Given the description of an element on the screen output the (x, y) to click on. 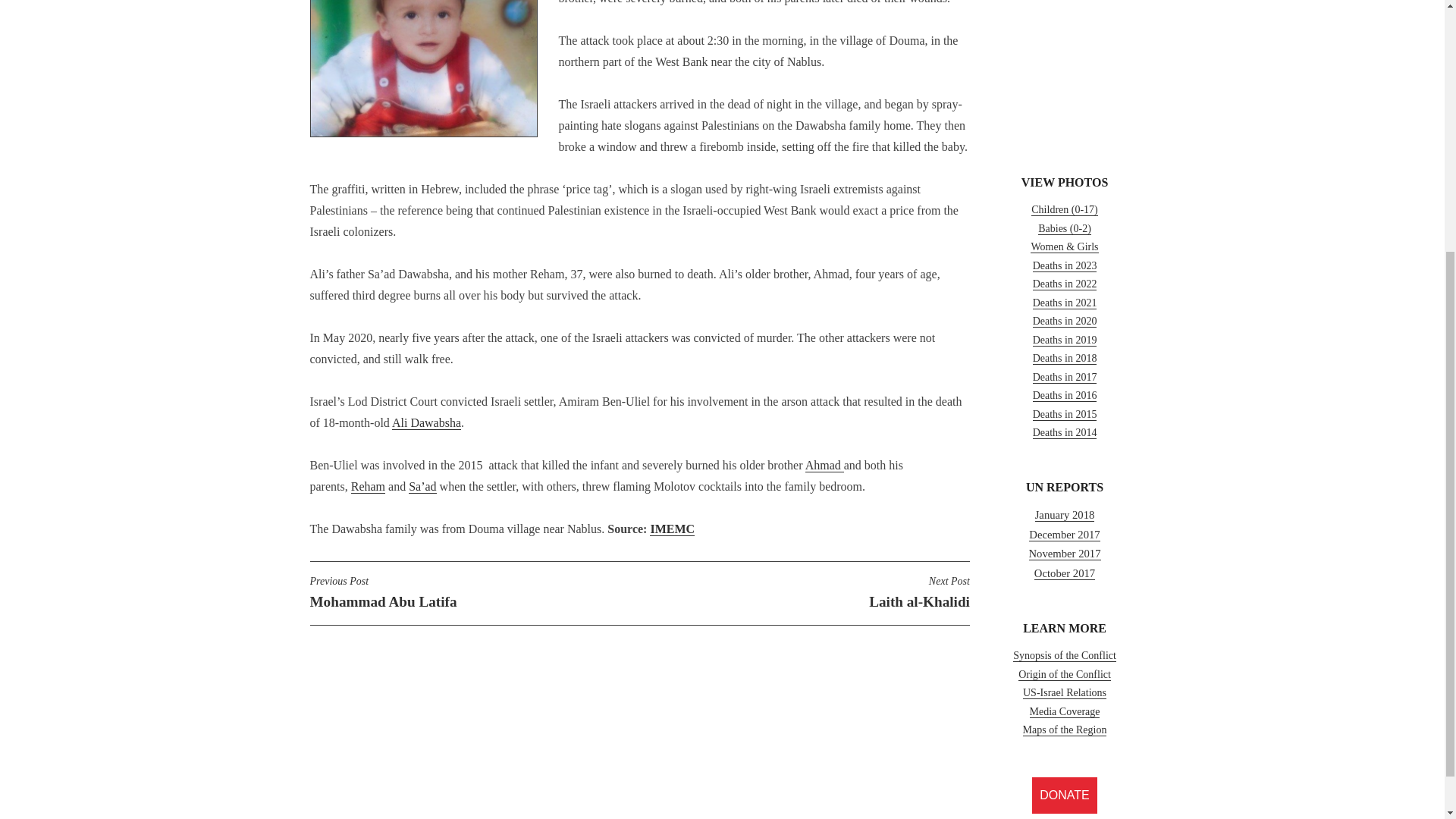
Ali Dawabsha (426, 422)
Ahmad  (824, 465)
Reham (367, 486)
